Given the description of an element on the screen output the (x, y) to click on. 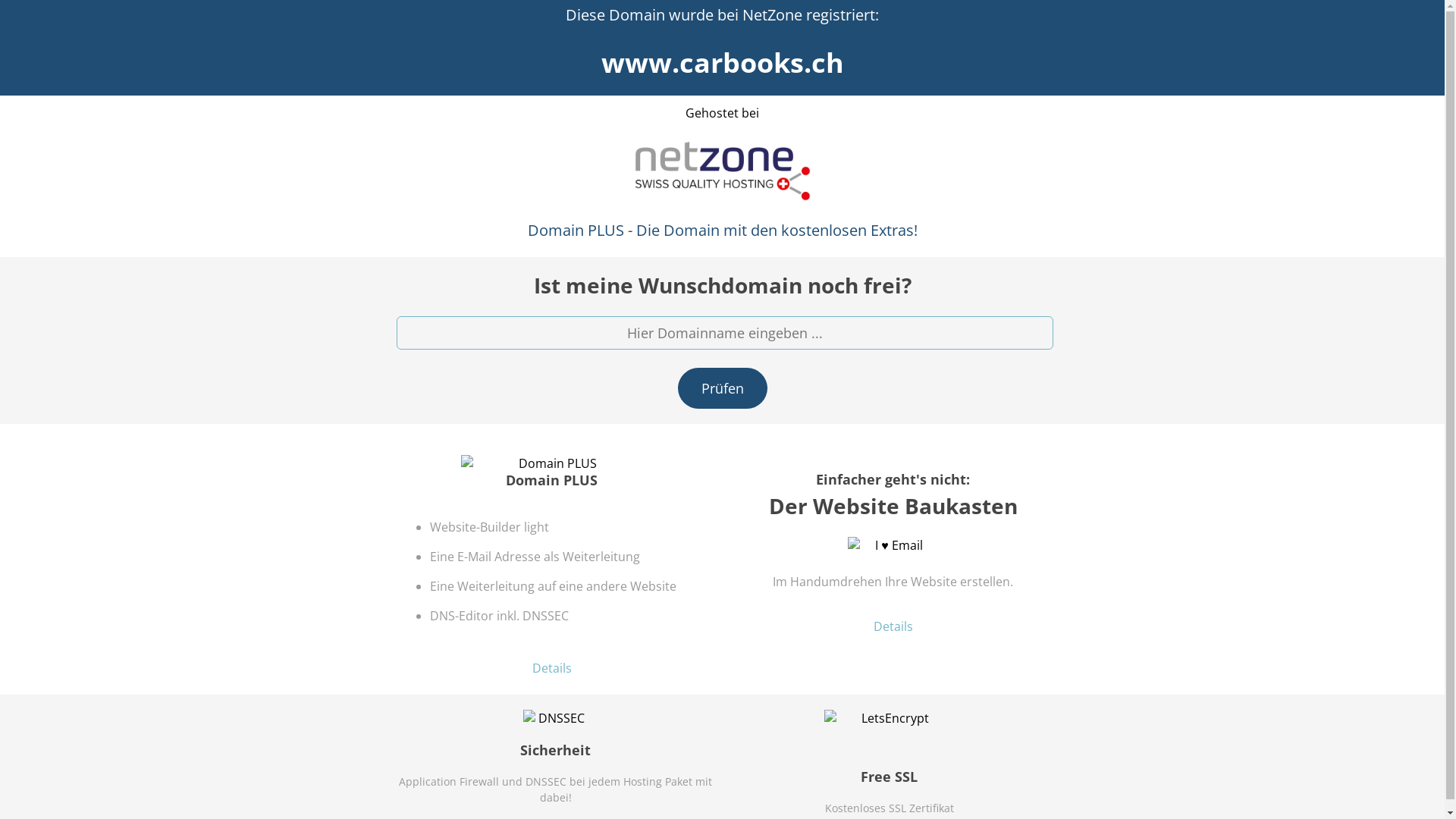
NetZone AG Element type: hover (721, 170)
LetsEncrypt Element type: hover (888, 717)
Details Element type: text (893, 626)
DNSSEC Element type: hover (555, 717)
Details Element type: text (551, 667)
Domain PLUS Element type: hover (552, 463)
